Given the description of an element on the screen output the (x, y) to click on. 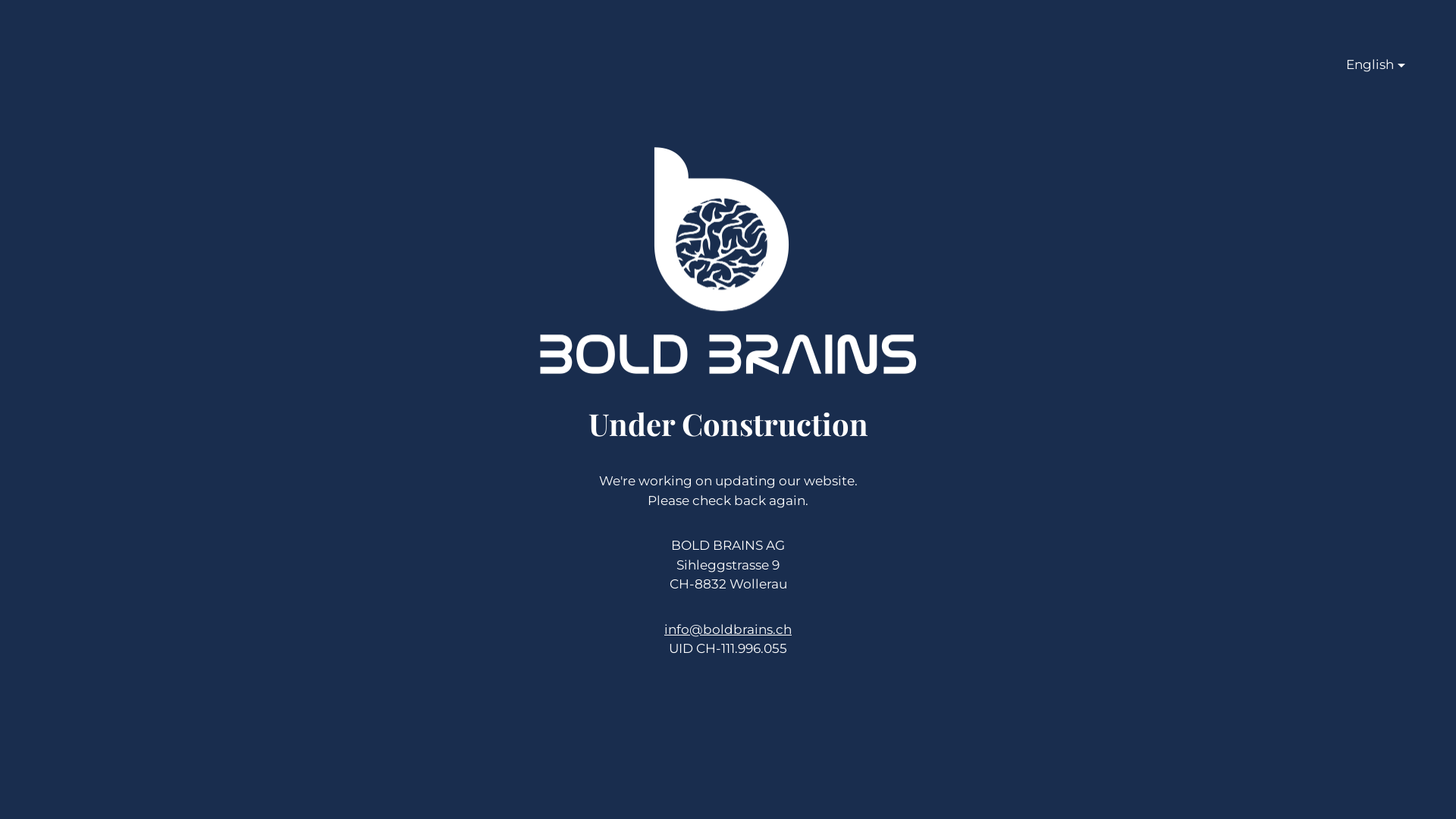
info@boldbrains.ch Element type: text (727, 629)
English Element type: text (1369, 71)
